Given the description of an element on the screen output the (x, y) to click on. 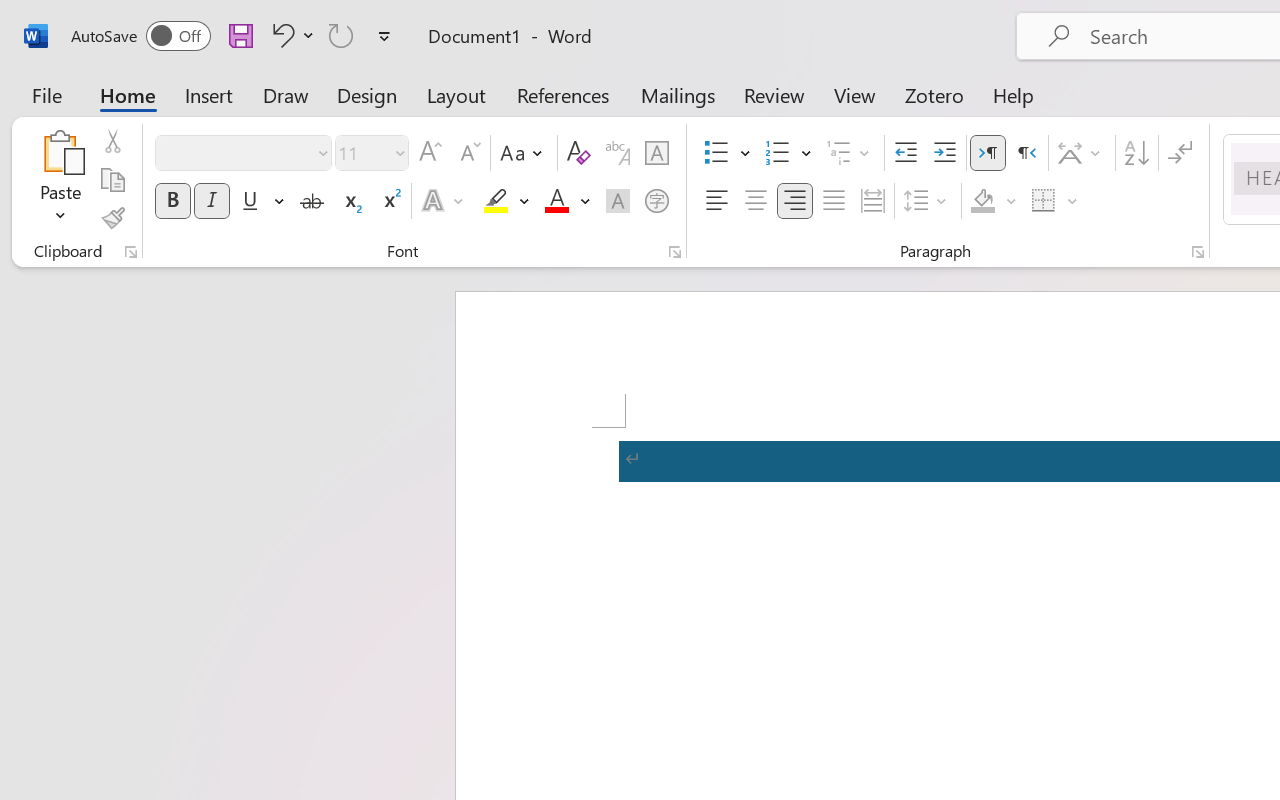
Font Color RGB(255, 0, 0) (556, 201)
